Given the description of an element on the screen output the (x, y) to click on. 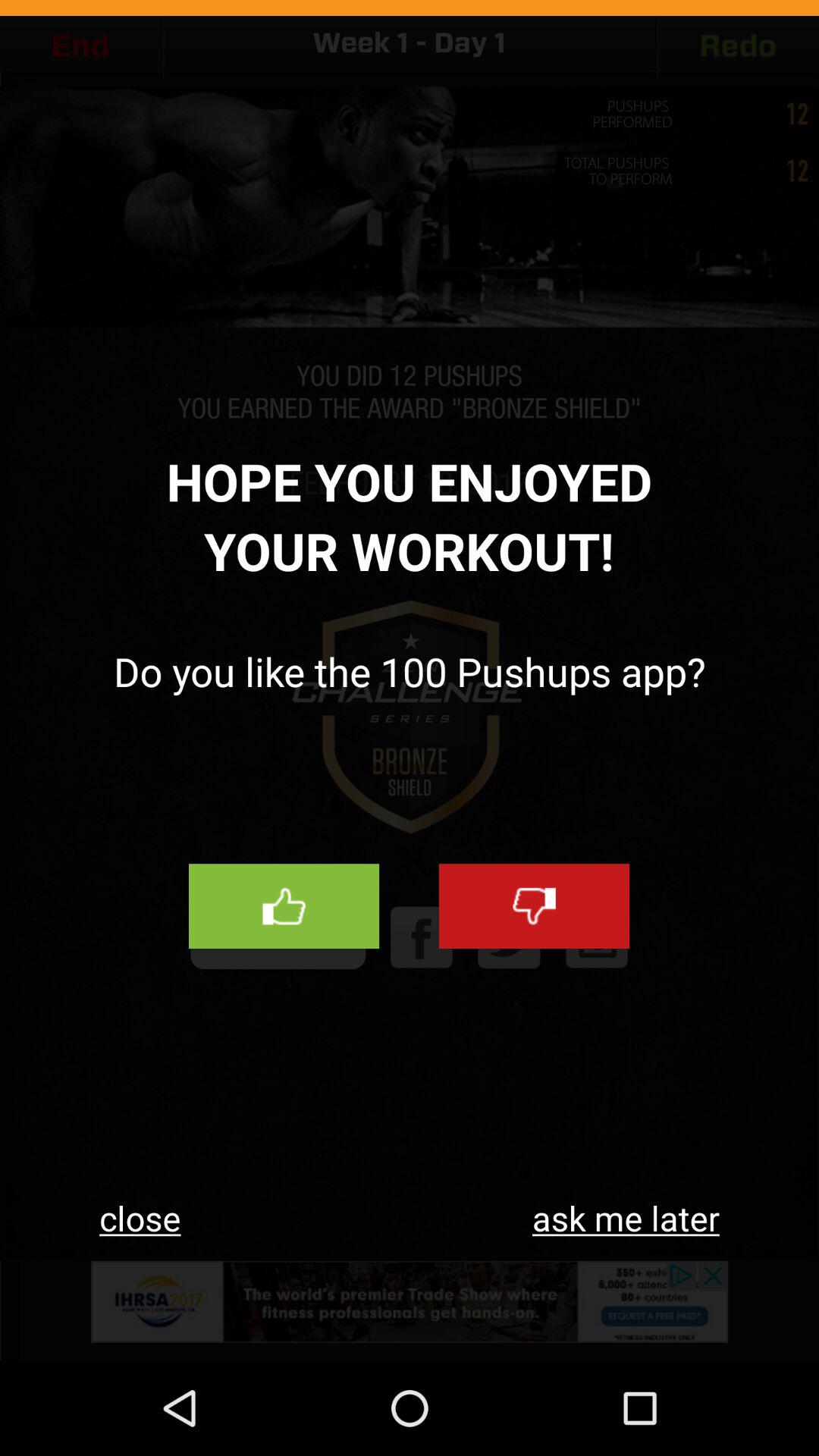
like (283, 905)
